Given the description of an element on the screen output the (x, y) to click on. 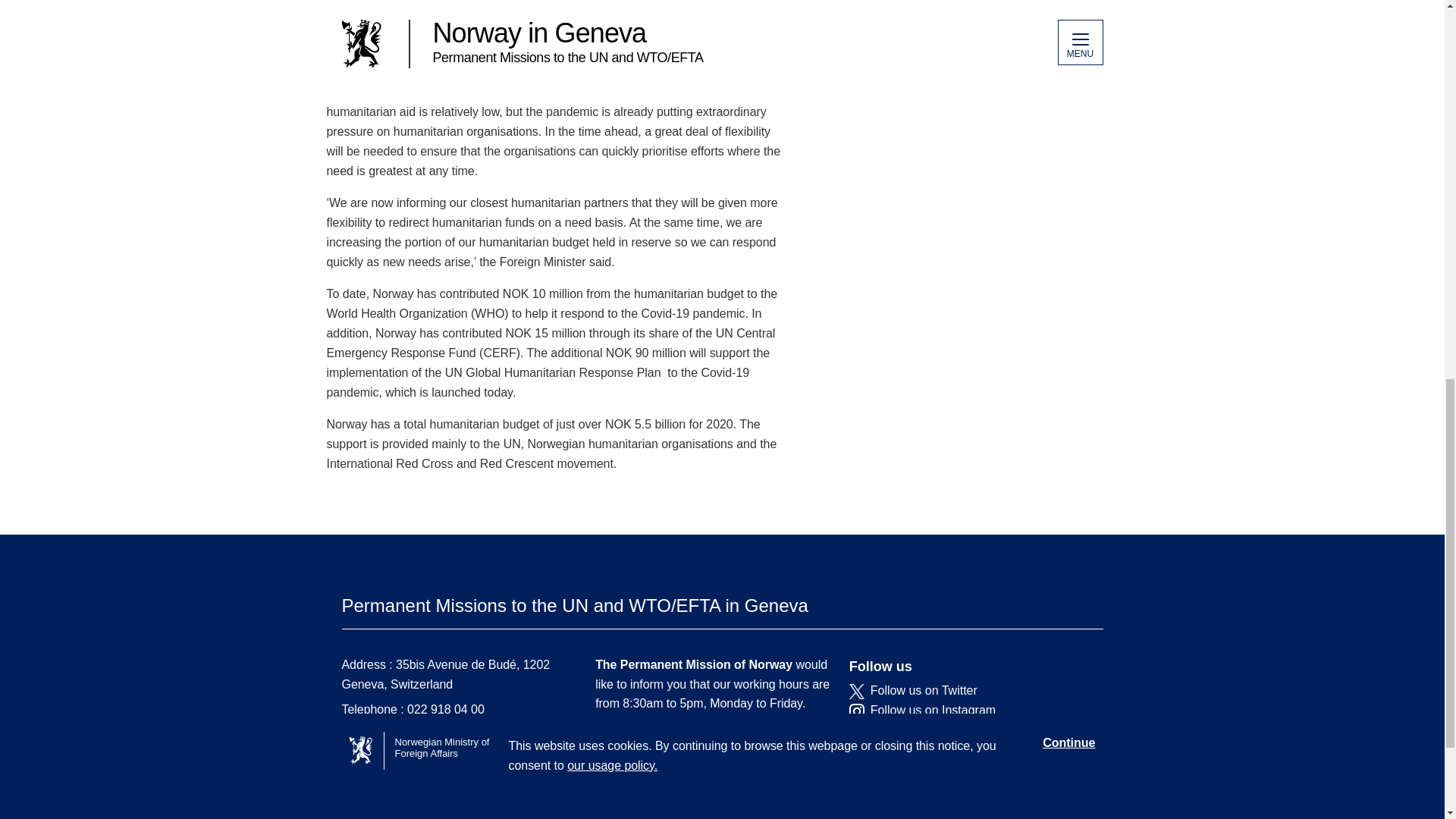
Follow us on Twitter (964, 690)
Follow us on Instagram (964, 710)
Follow us on LinkedIn (964, 730)
